Given the description of an element on the screen output the (x, y) to click on. 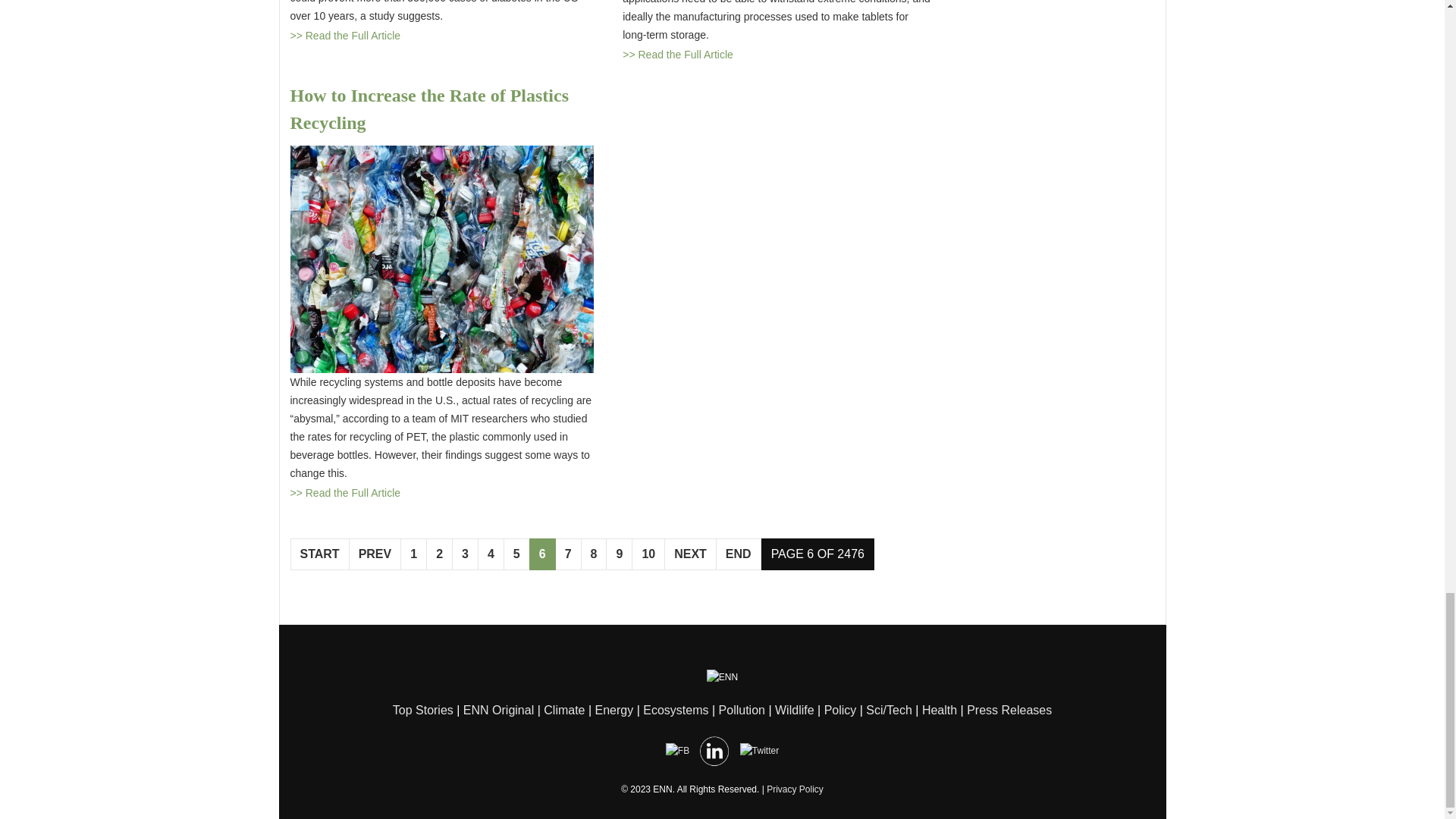
End (738, 553)
Start (319, 553)
Next (689, 553)
Prev (375, 553)
10 (648, 553)
